Given the description of an element on the screen output the (x, y) to click on. 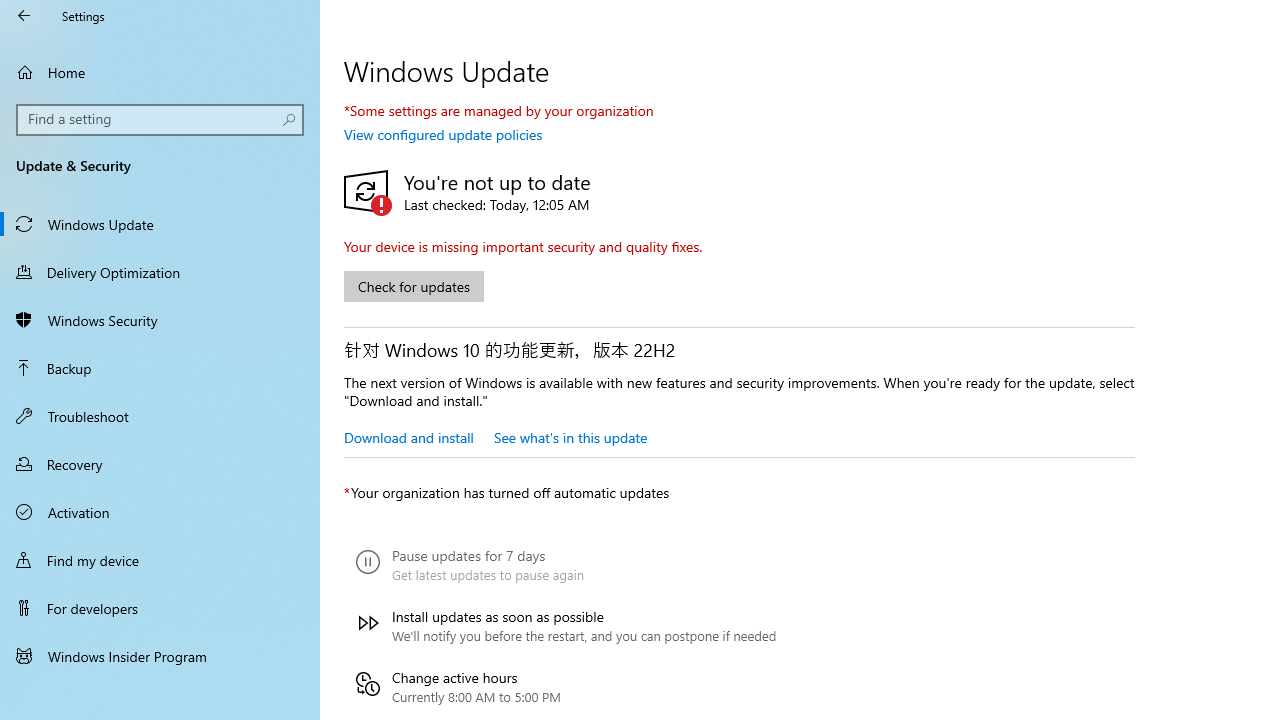
Change active hours (566, 686)
Home (160, 71)
Search box, Find a setting (160, 119)
Recovery (160, 463)
Delivery Optimization (160, 271)
Check for updates (413, 285)
View configured update policies (443, 134)
Download and install (408, 437)
Troubleshoot (160, 415)
Pause updates for 7 days (566, 565)
Windows Update (160, 223)
Find my device (160, 559)
Activation (160, 511)
Install updates as soon as possible (566, 626)
Backup (160, 367)
